Given the description of an element on the screen output the (x, y) to click on. 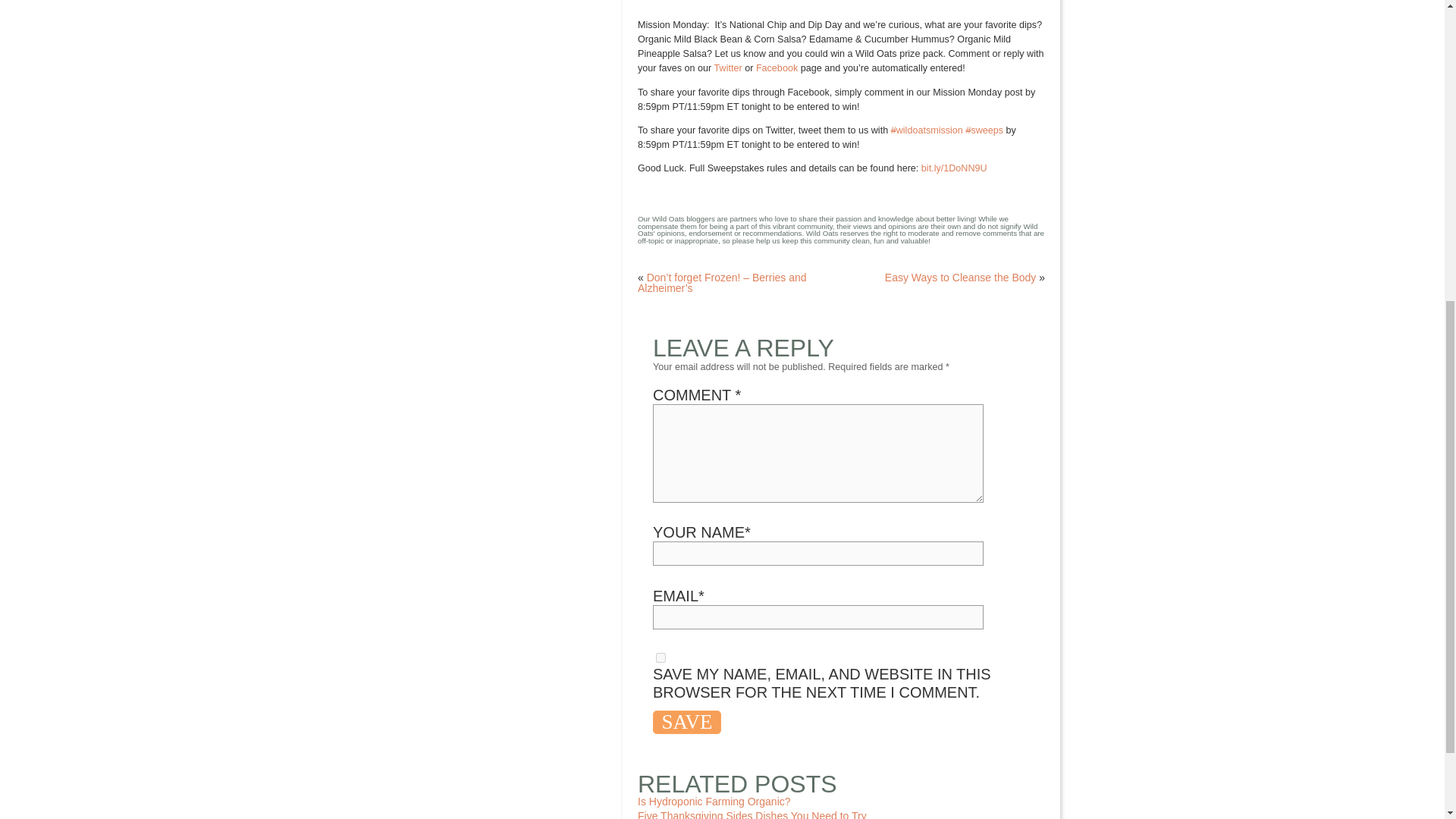
yes (660, 657)
SAVE (686, 721)
Facebook (776, 68)
Easy Ways to Cleanse the Body (960, 277)
Twitter (728, 68)
Is Hydroponic Farming Organic? (713, 801)
SAVE (686, 721)
